Given the description of an element on the screen output the (x, y) to click on. 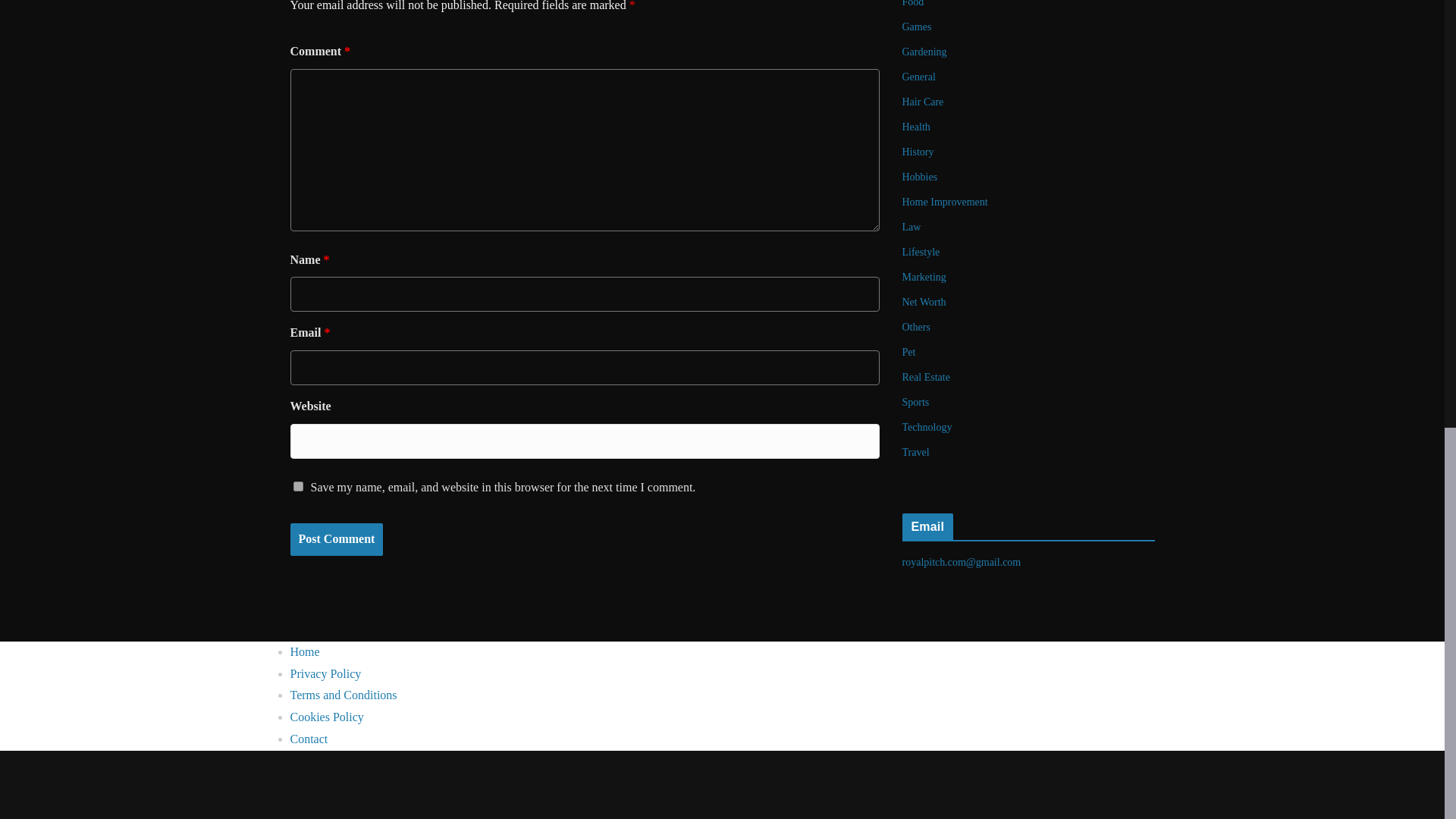
Games (916, 26)
Food (913, 3)
General (919, 76)
yes (297, 486)
Health (916, 126)
History (918, 152)
Hair Care (922, 101)
Post Comment (335, 539)
Post Comment (335, 539)
Gardening (924, 51)
